Given the description of an element on the screen output the (x, y) to click on. 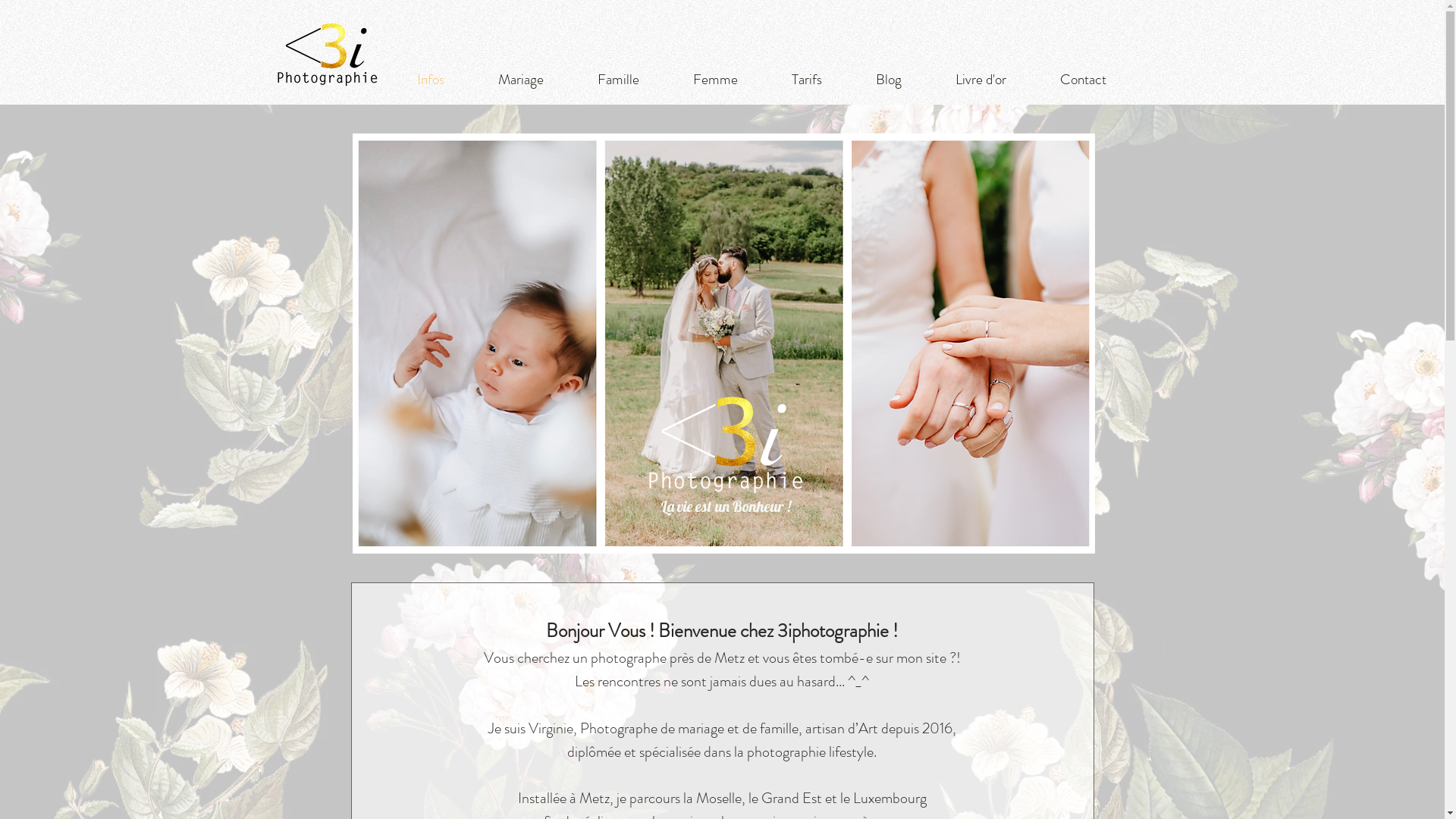
Infos Element type: text (429, 78)
Mariage Element type: text (521, 78)
Blog Element type: text (888, 78)
Famille Element type: text (617, 78)
Contact Element type: text (1082, 78)
Tarifs Element type: text (806, 78)
Femme Element type: text (714, 78)
Livre d'or Element type: text (980, 78)
